Given the description of an element on the screen output the (x, y) to click on. 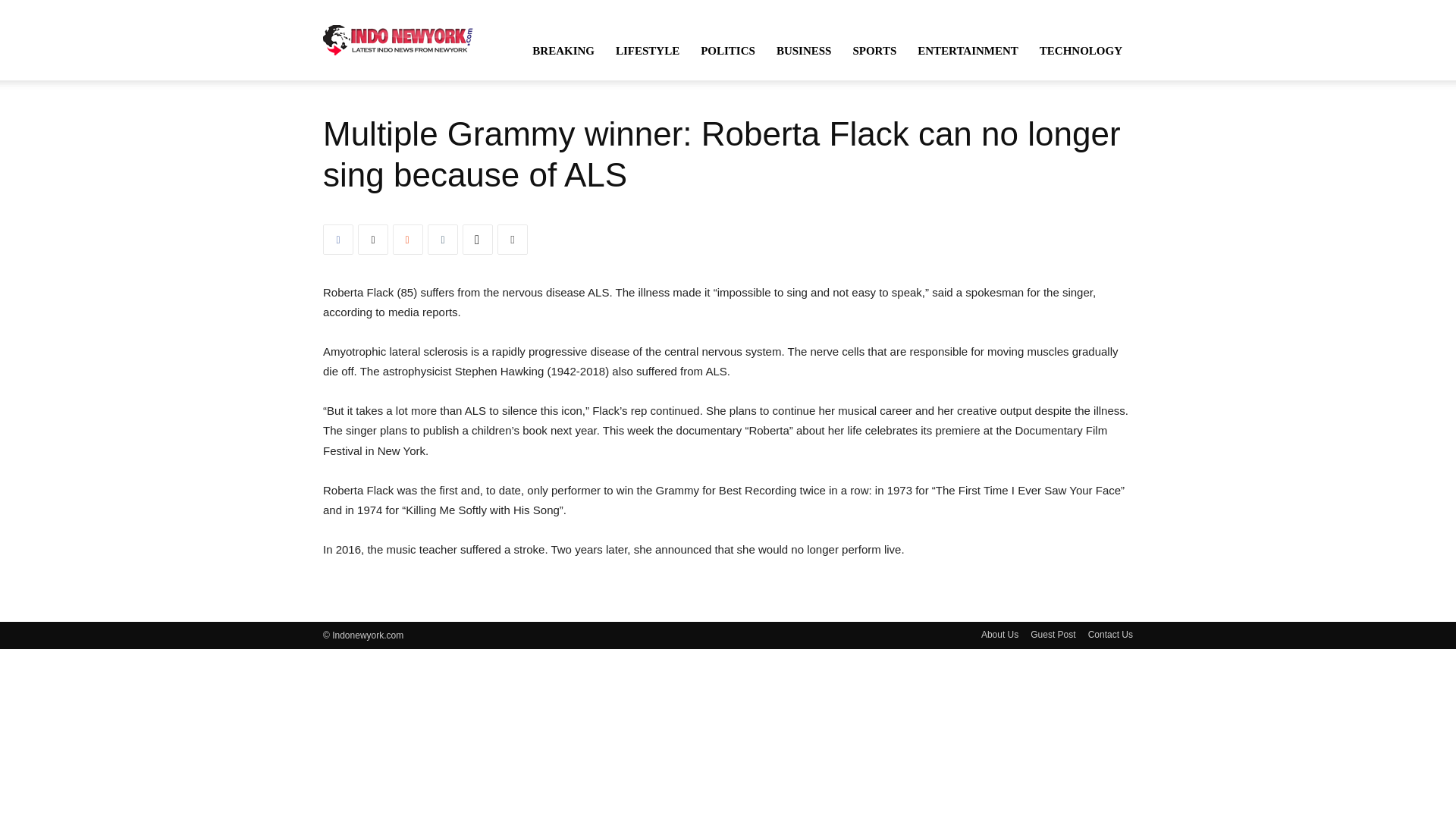
LIFESTYLE (647, 50)
Guest Post (1052, 634)
BUSINESS (804, 50)
TECHNOLOGY (1080, 50)
SPORTS (874, 50)
POLITICS (727, 50)
Mix (408, 239)
ENTERTAINMENT (968, 50)
Contact Us (1109, 634)
Facebook (338, 239)
